Given the description of an element on the screen output the (x, y) to click on. 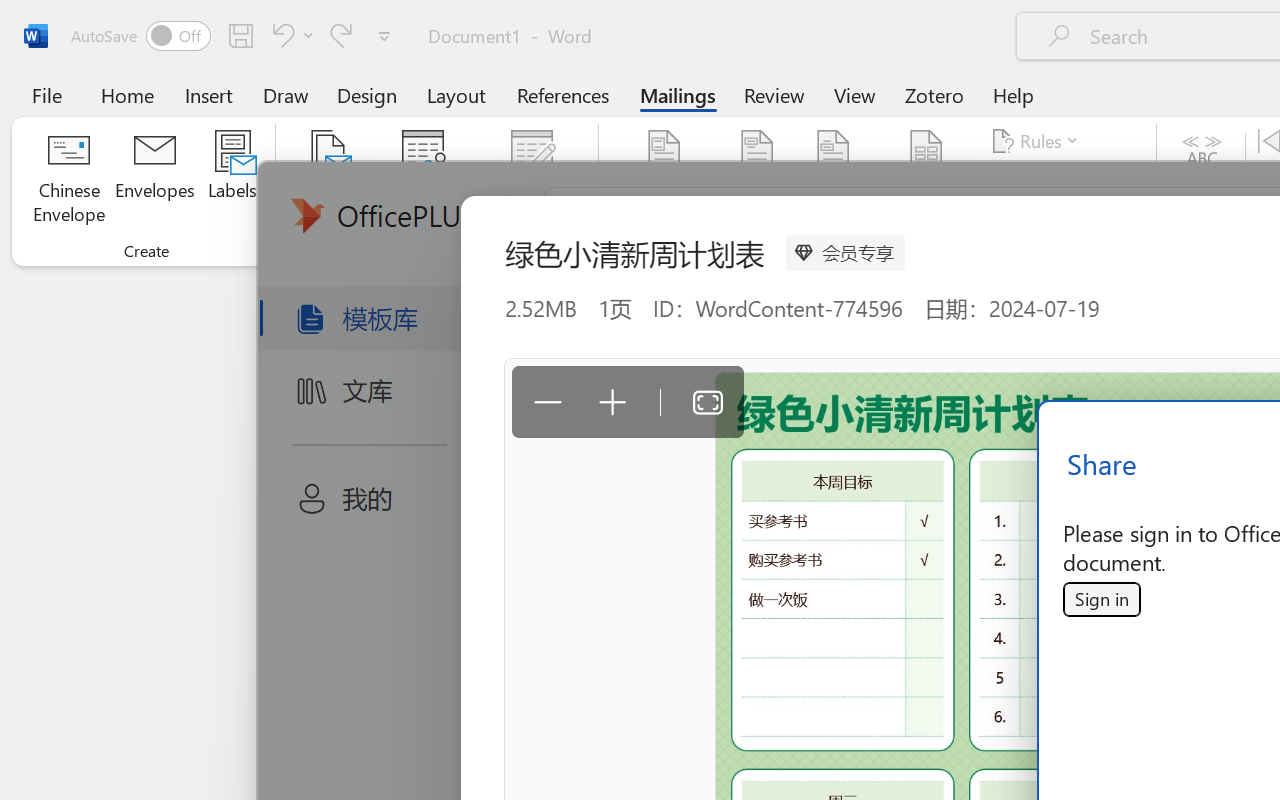
Rules (1037, 141)
Highlight Merge Fields (664, 179)
Start Mail Merge (328, 179)
Insert Merge Field (927, 179)
Chinese Envelope... (68, 179)
Match Fields... (1057, 179)
